Given the description of an element on the screen output the (x, y) to click on. 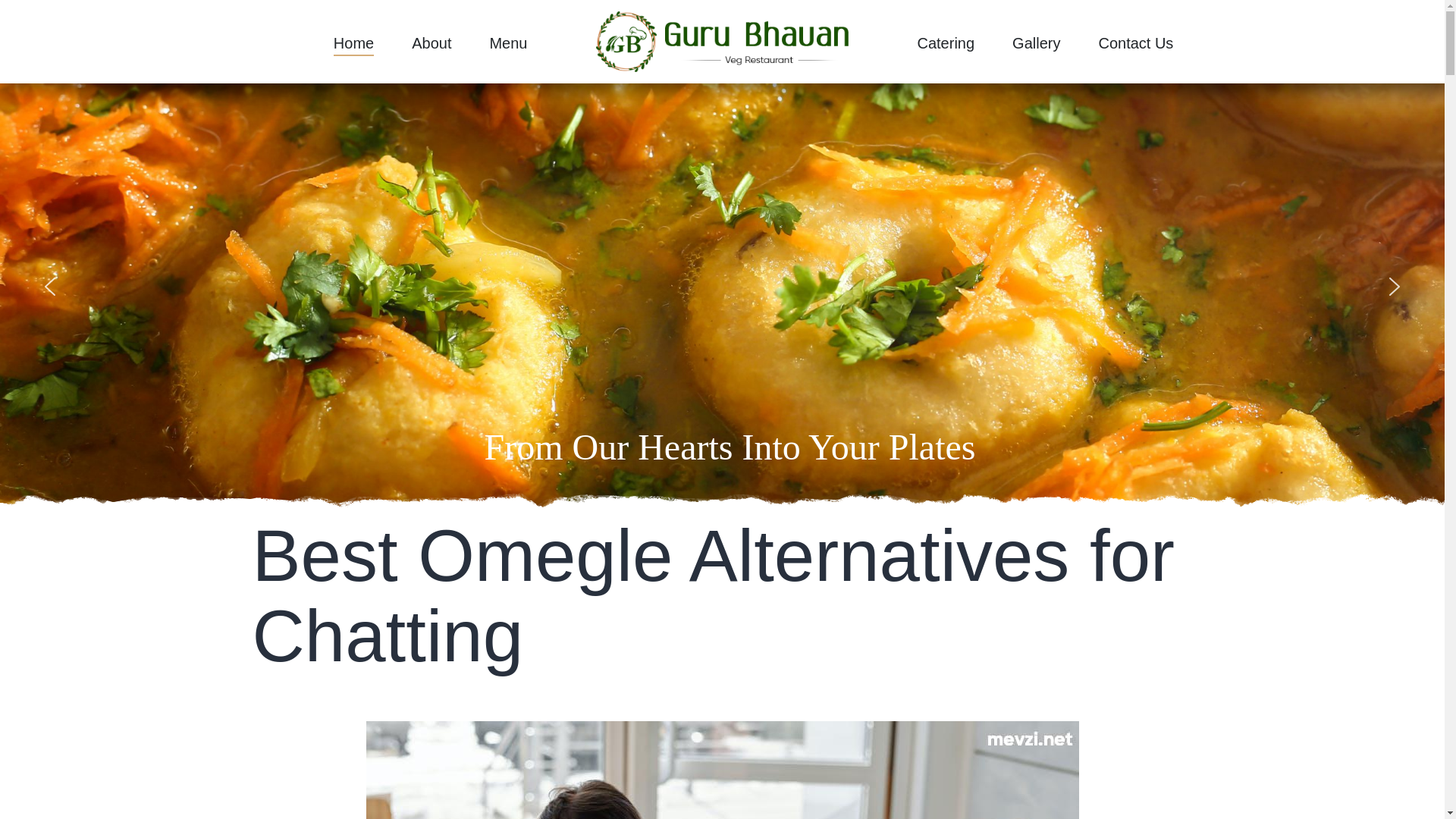
Contact Us (1135, 45)
Gallery (1035, 45)
Catering (945, 45)
Home (353, 45)
Menu (508, 45)
About (431, 45)
